Given the description of an element on the screen output the (x, y) to click on. 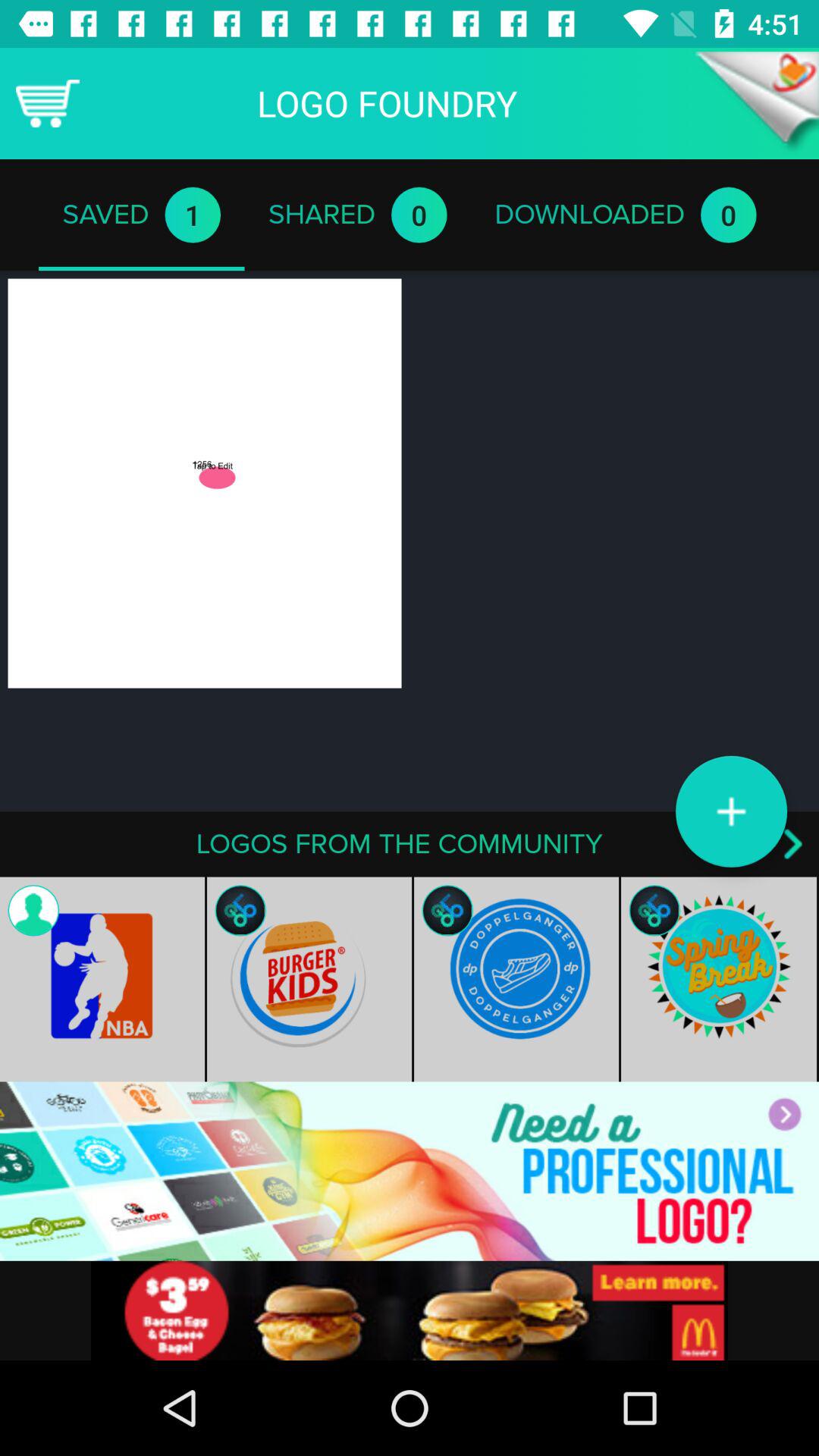
share the article (409, 1310)
